Given the description of an element on the screen output the (x, y) to click on. 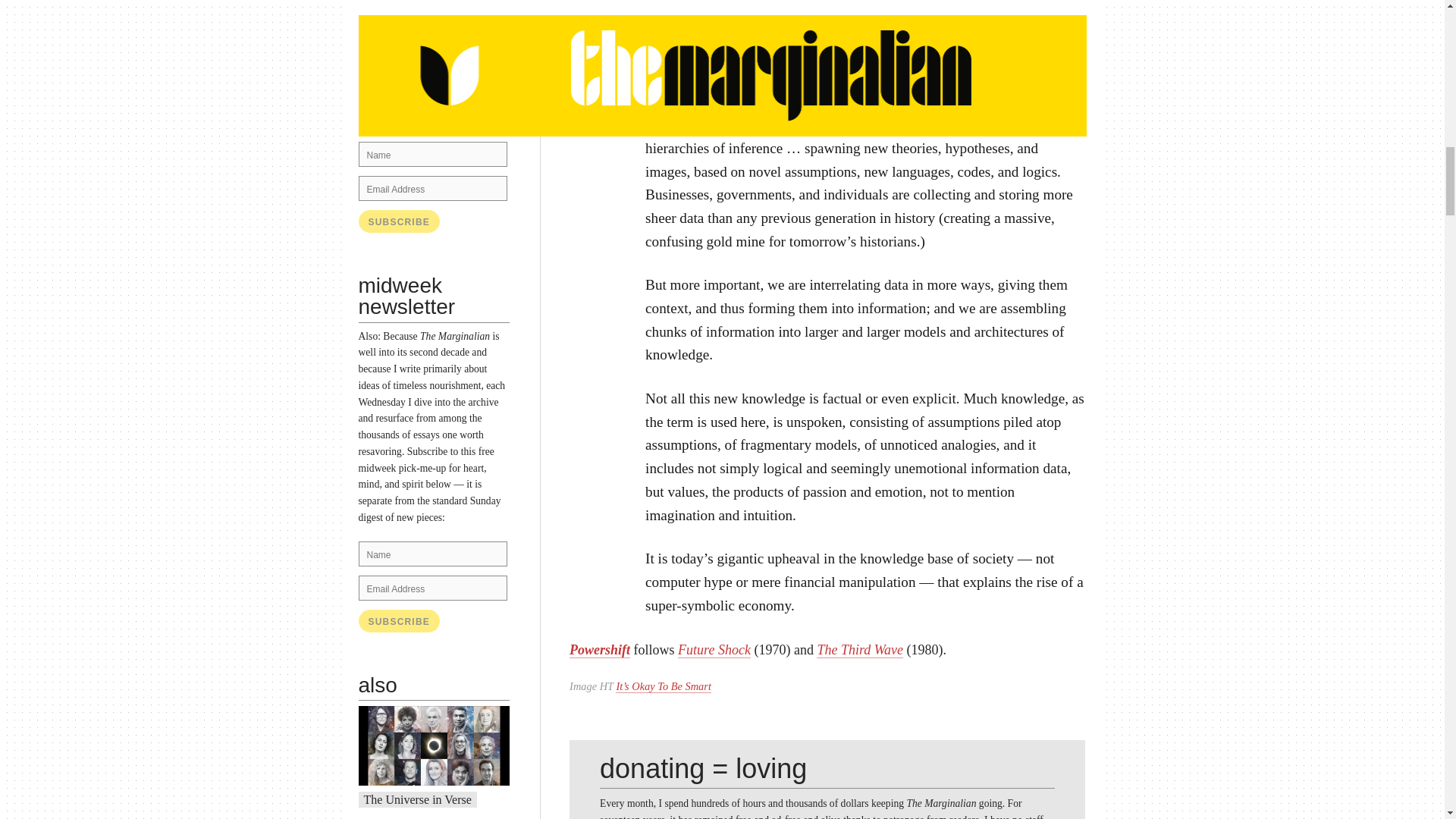
Subscribe (398, 620)
Subscribe (398, 220)
Subscribe (398, 220)
example (449, 101)
The Universe in Verse (417, 799)
Subscribe (398, 620)
